Given the description of an element on the screen output the (x, y) to click on. 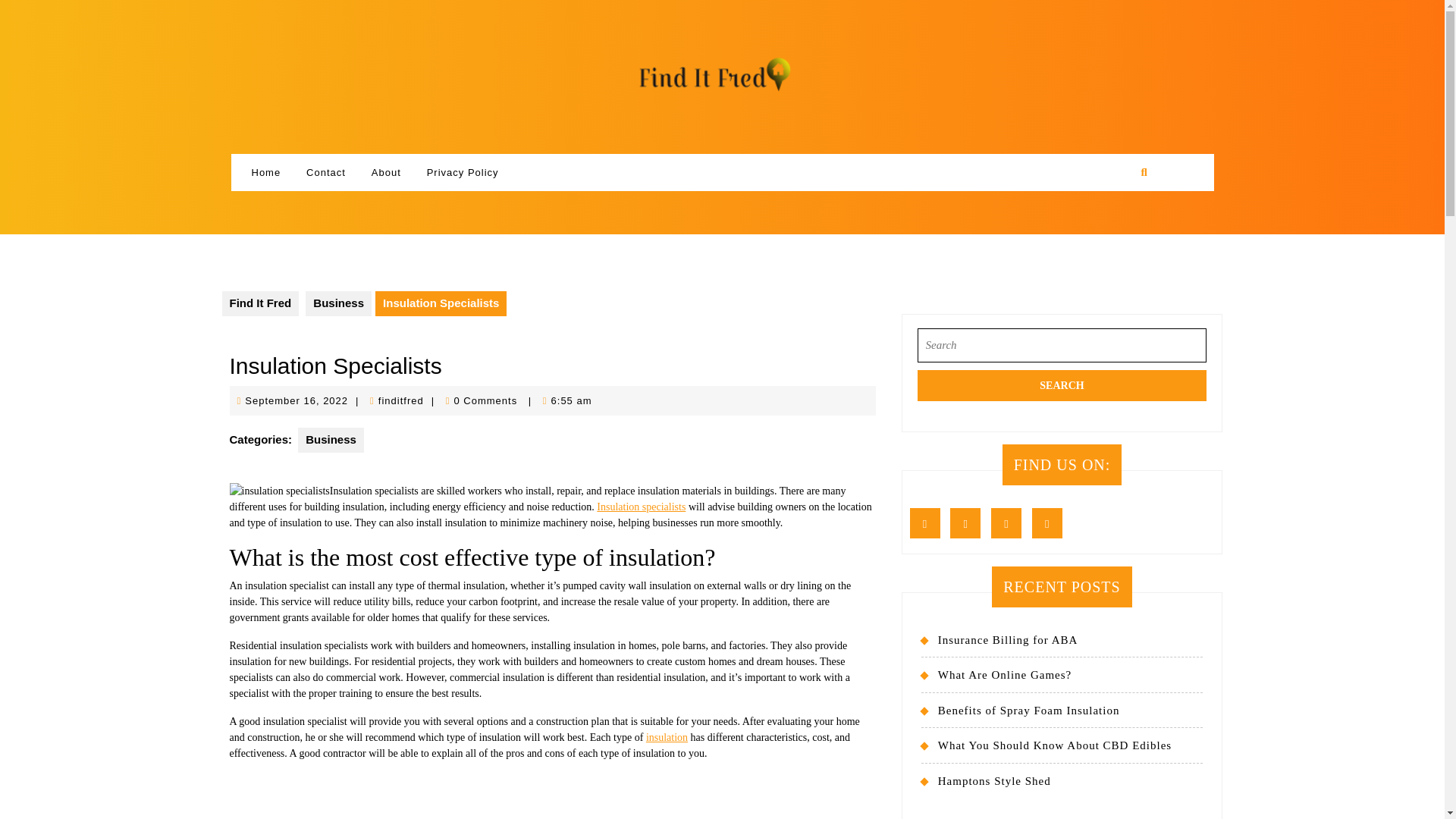
About (385, 172)
Business (338, 303)
Instagram (1010, 523)
Insulation specialists (640, 506)
Home (266, 172)
Twitter (969, 523)
Search (1062, 385)
Business (331, 439)
Contact (325, 172)
Find It Fred (259, 303)
